Given the description of an element on the screen output the (x, y) to click on. 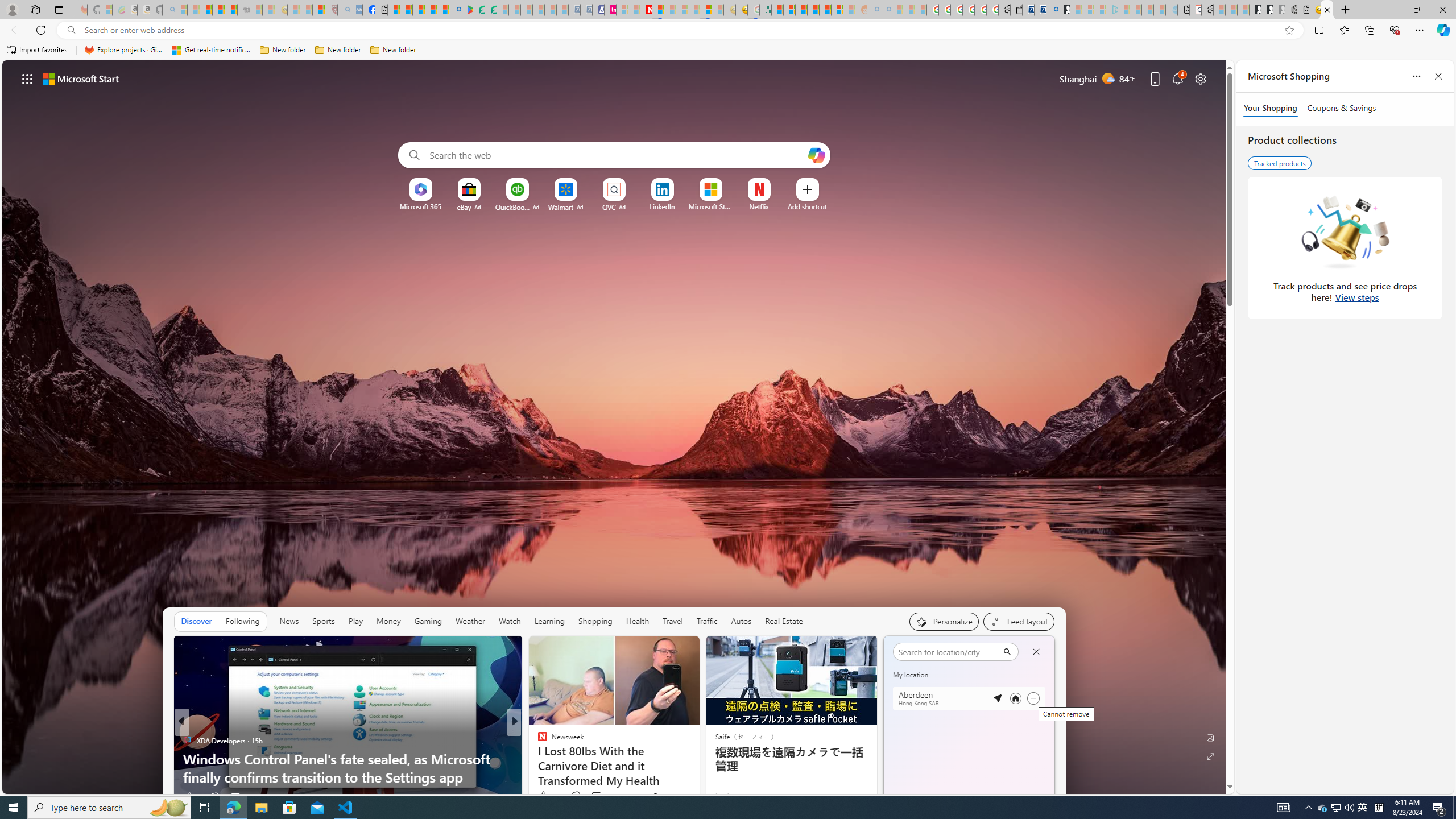
21 Like (543, 796)
View comments 31 Comment (592, 797)
Jobs - lastminute.com Investor Portal (610, 9)
View comments 19 Comment (592, 797)
Feed settings (1018, 621)
Wallet (1016, 9)
View comments 13 Comment (592, 797)
